Given the description of an element on the screen output the (x, y) to click on. 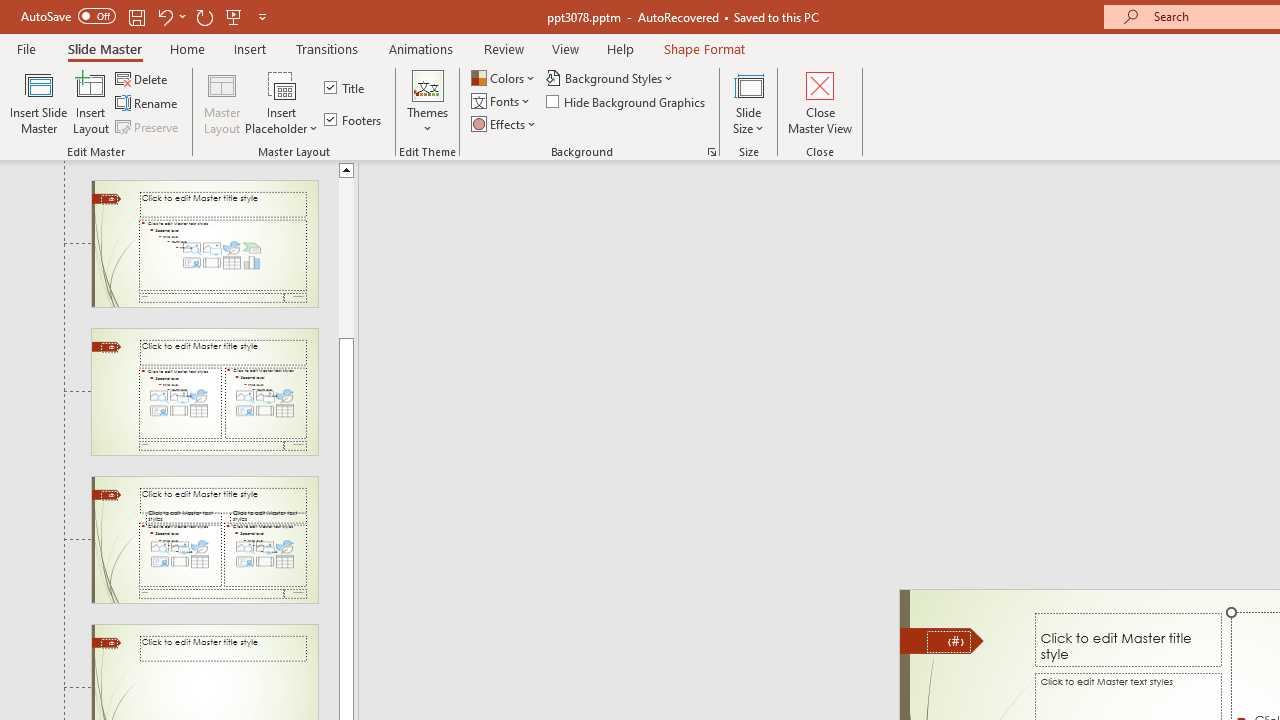
Slide Title and Content Layout: used by no slides (204, 243)
Master Layout... (221, 102)
Fonts (502, 101)
